Given the description of an element on the screen output the (x, y) to click on. 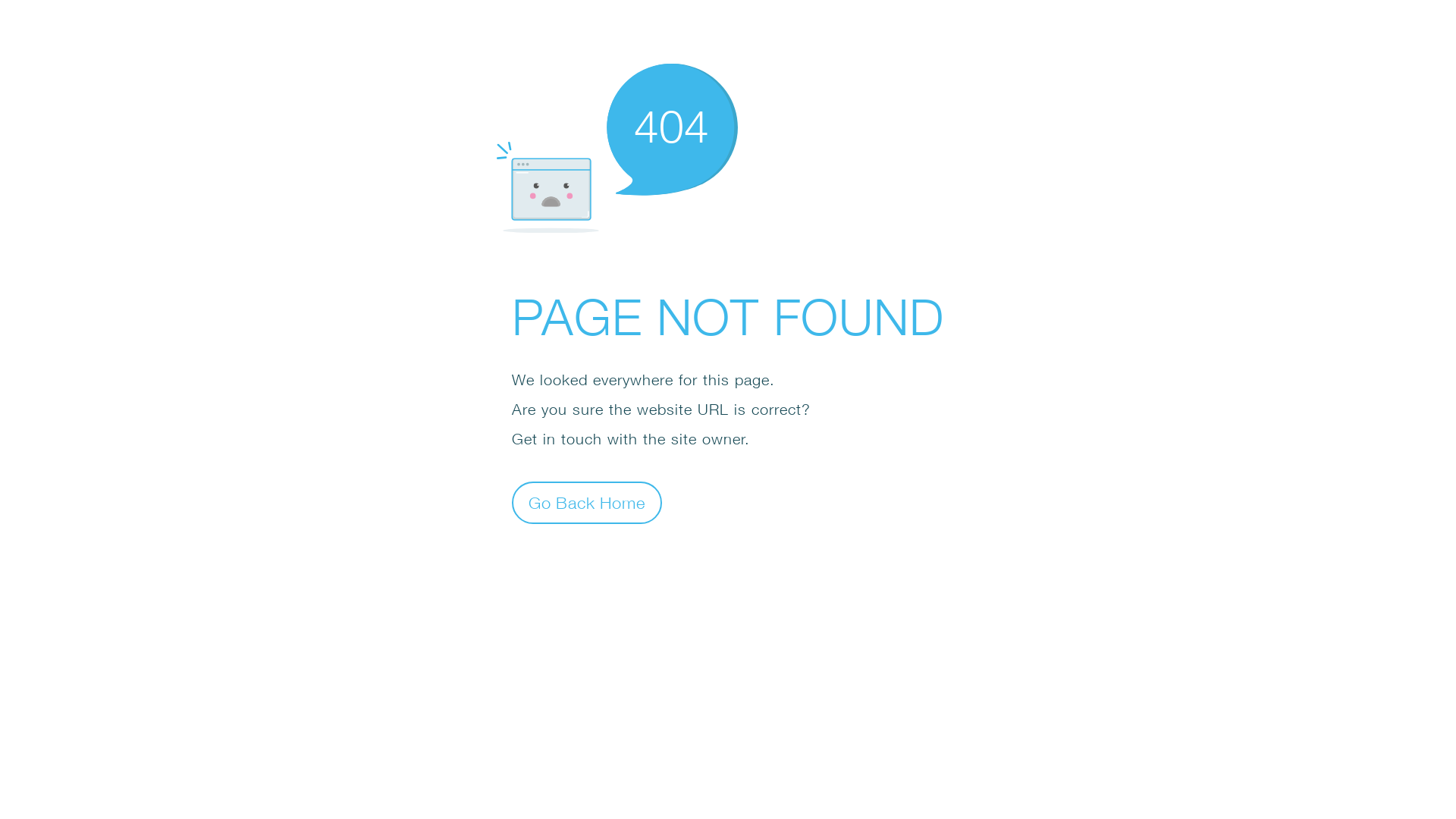
Go Back Home Element type: text (586, 502)
